Given the description of an element on the screen output the (x, y) to click on. 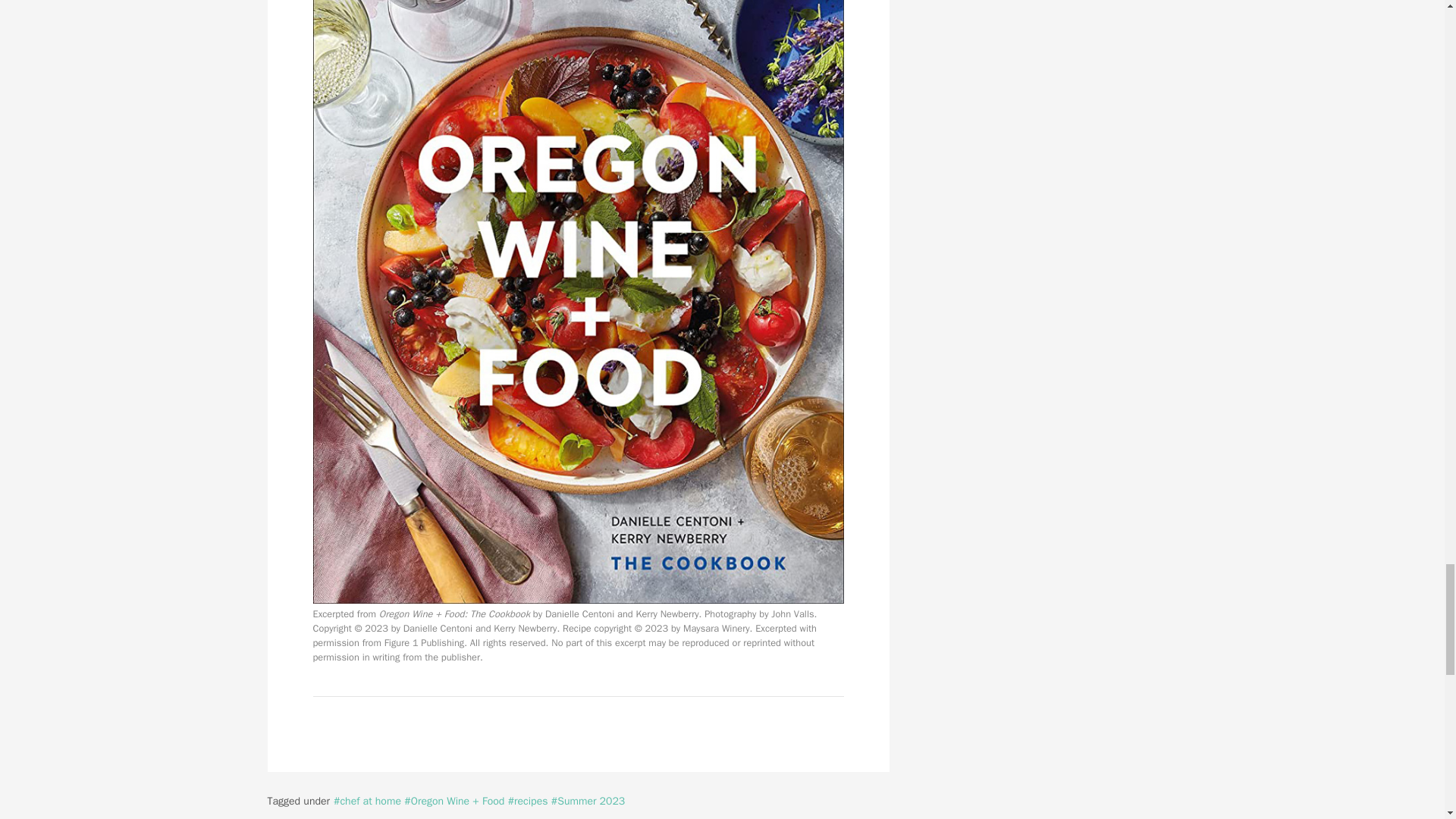
Summer 2023 (587, 800)
chef at home (367, 800)
recipes (528, 800)
